Given the description of an element on the screen output the (x, y) to click on. 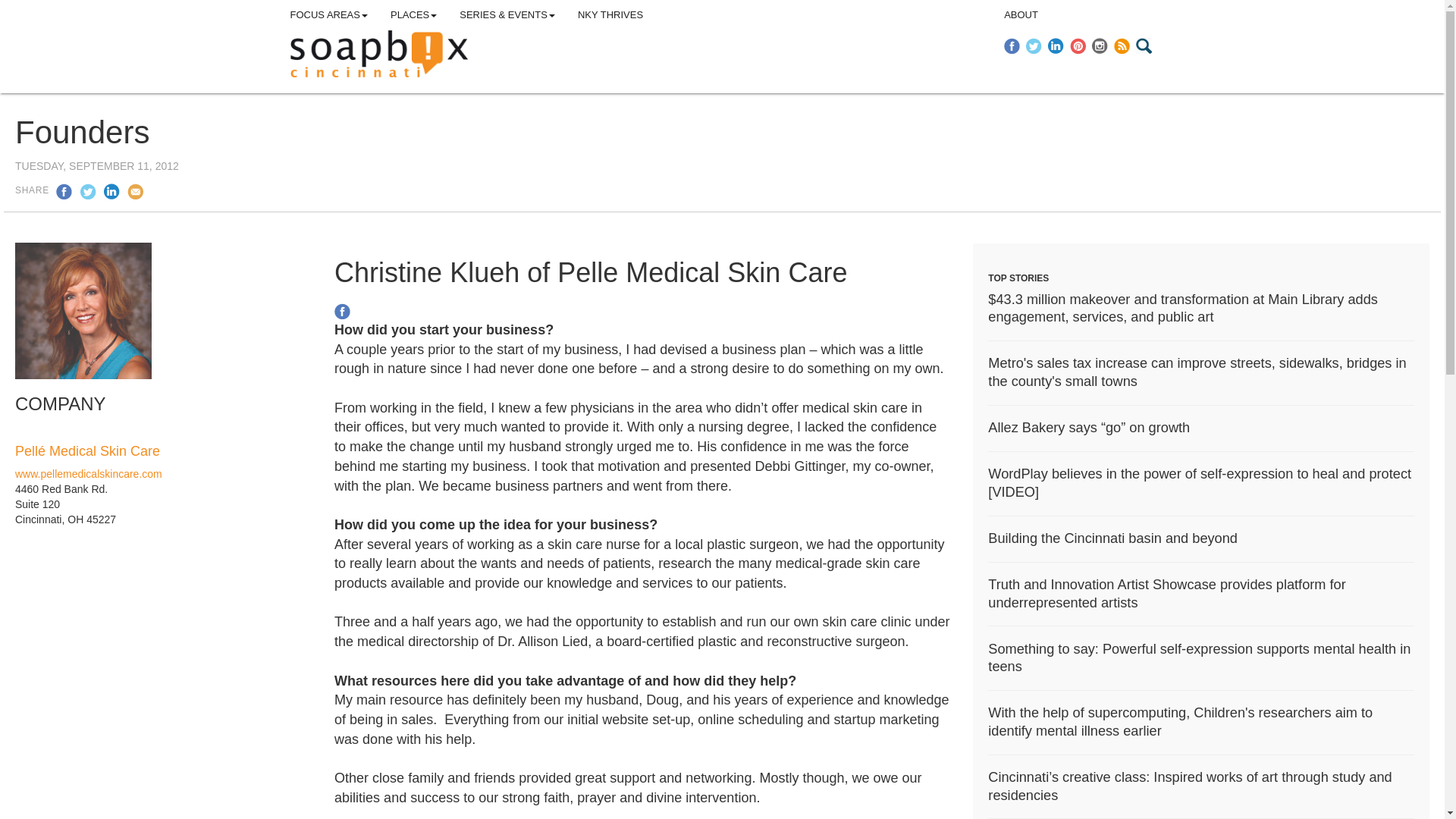
FOCUS AREAS (328, 15)
Subscribe to the Soapbox RSS feed! (1122, 45)
PLACES (413, 15)
Facebook page for Christine Klueh of Pelle Medical Skin Care (342, 309)
